Given the description of an element on the screen output the (x, y) to click on. 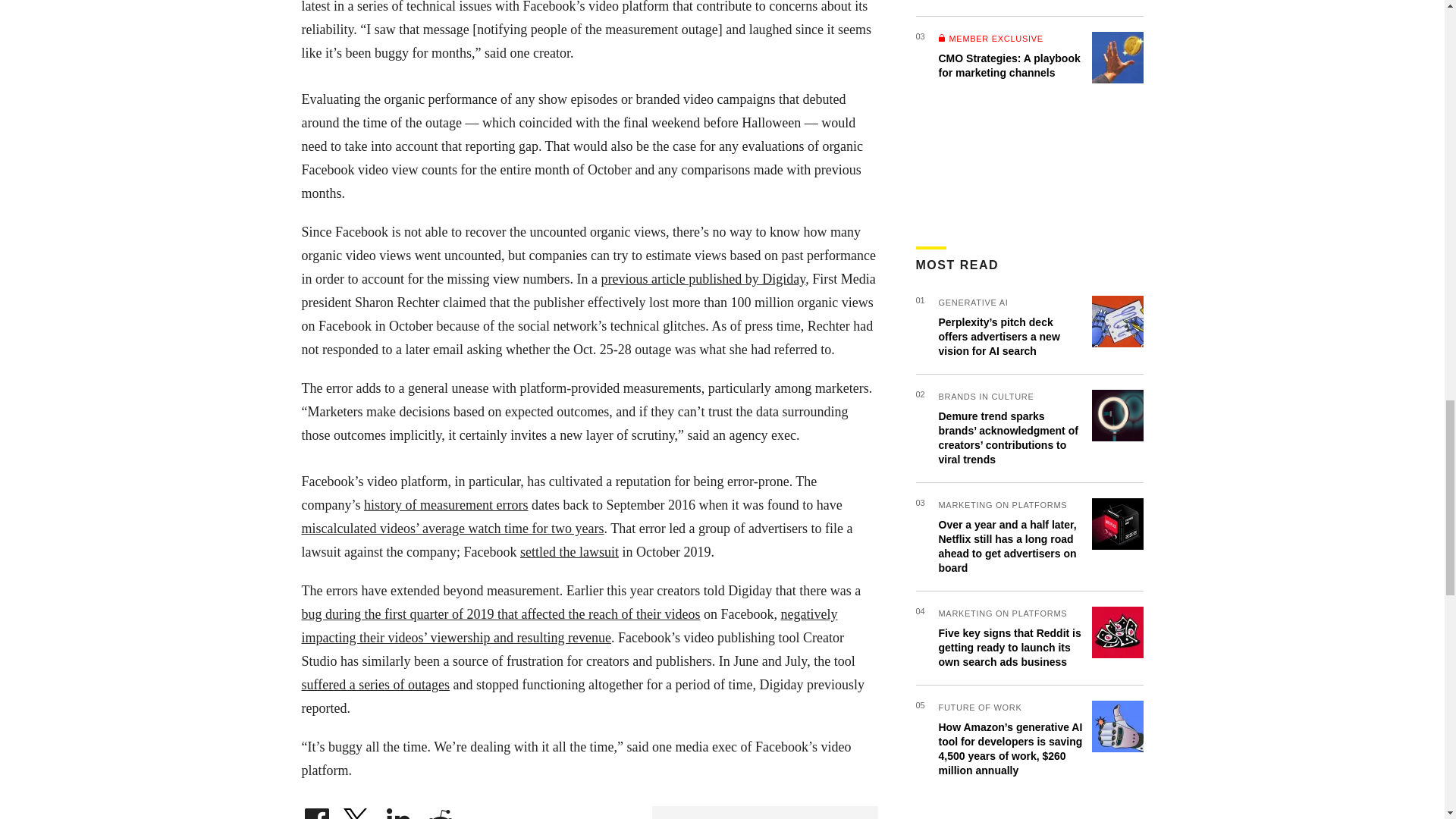
Share on Facebook (316, 814)
Share on Twitter (357, 814)
Share on LinkedIn (398, 814)
Share on Reddit (440, 814)
